Given the description of an element on the screen output the (x, y) to click on. 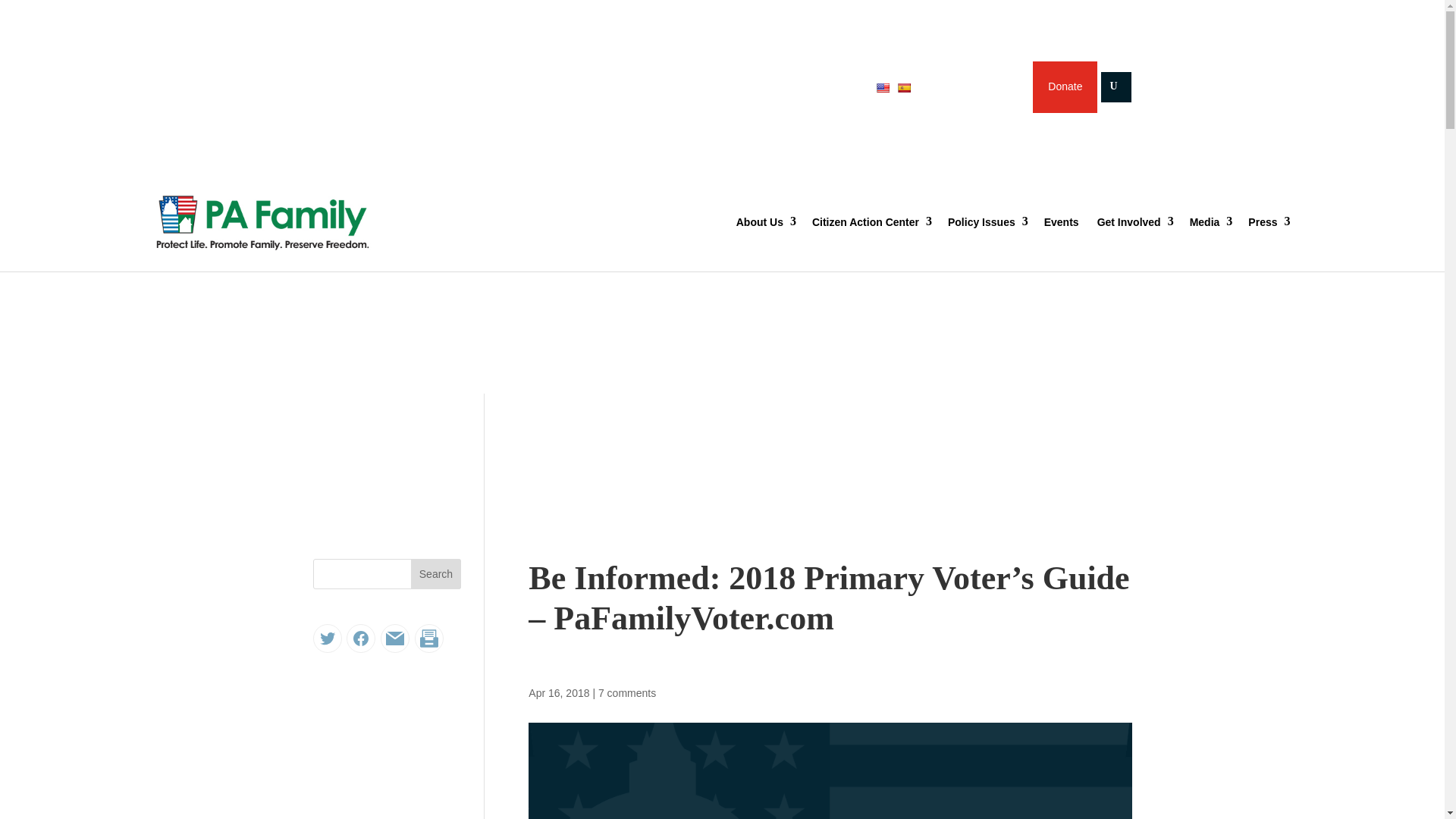
Policy Issues (987, 222)
logo-pa-family-tagline-leftl (302, 222)
Search (24, 13)
Get Involved (1133, 222)
Sign up for emails (970, 86)
Spanish (903, 86)
Donate (1064, 87)
English (882, 86)
Citizen Action Center (871, 222)
Search (435, 573)
